Given the description of an element on the screen output the (x, y) to click on. 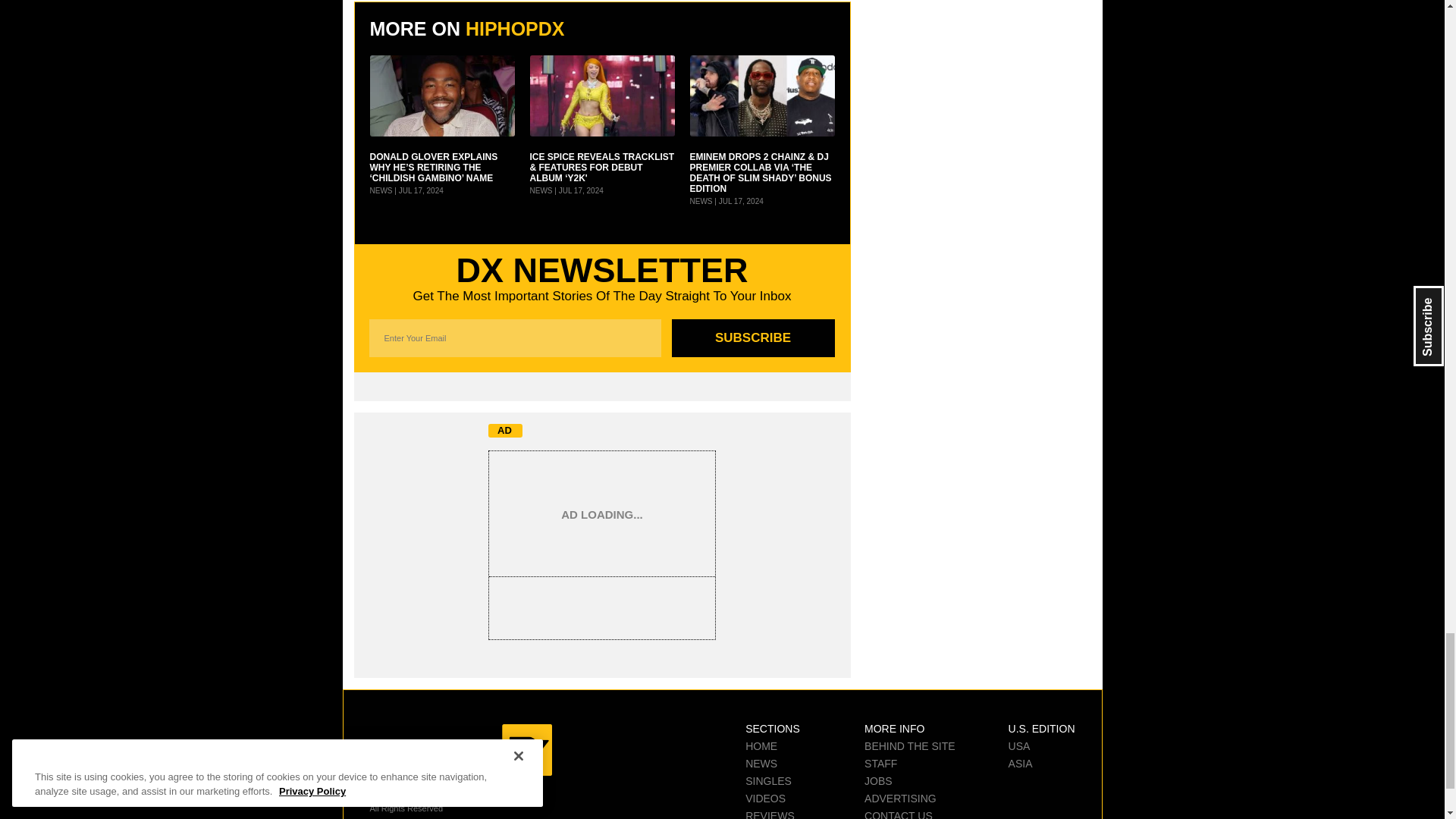
HipHopDX (460, 749)
